Given the description of an element on the screen output the (x, y) to click on. 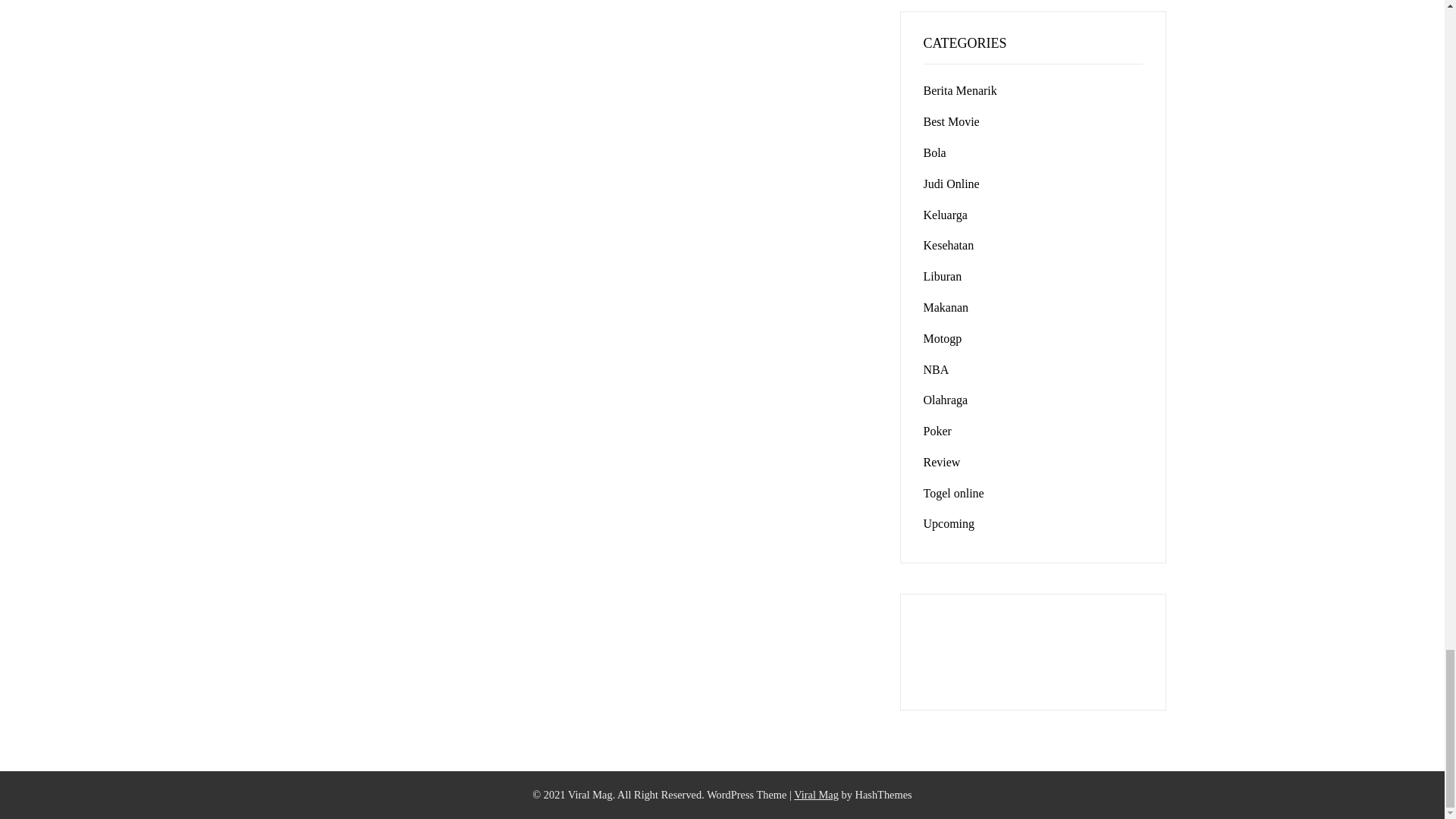
Download Viral News (815, 794)
